Given the description of an element on the screen output the (x, y) to click on. 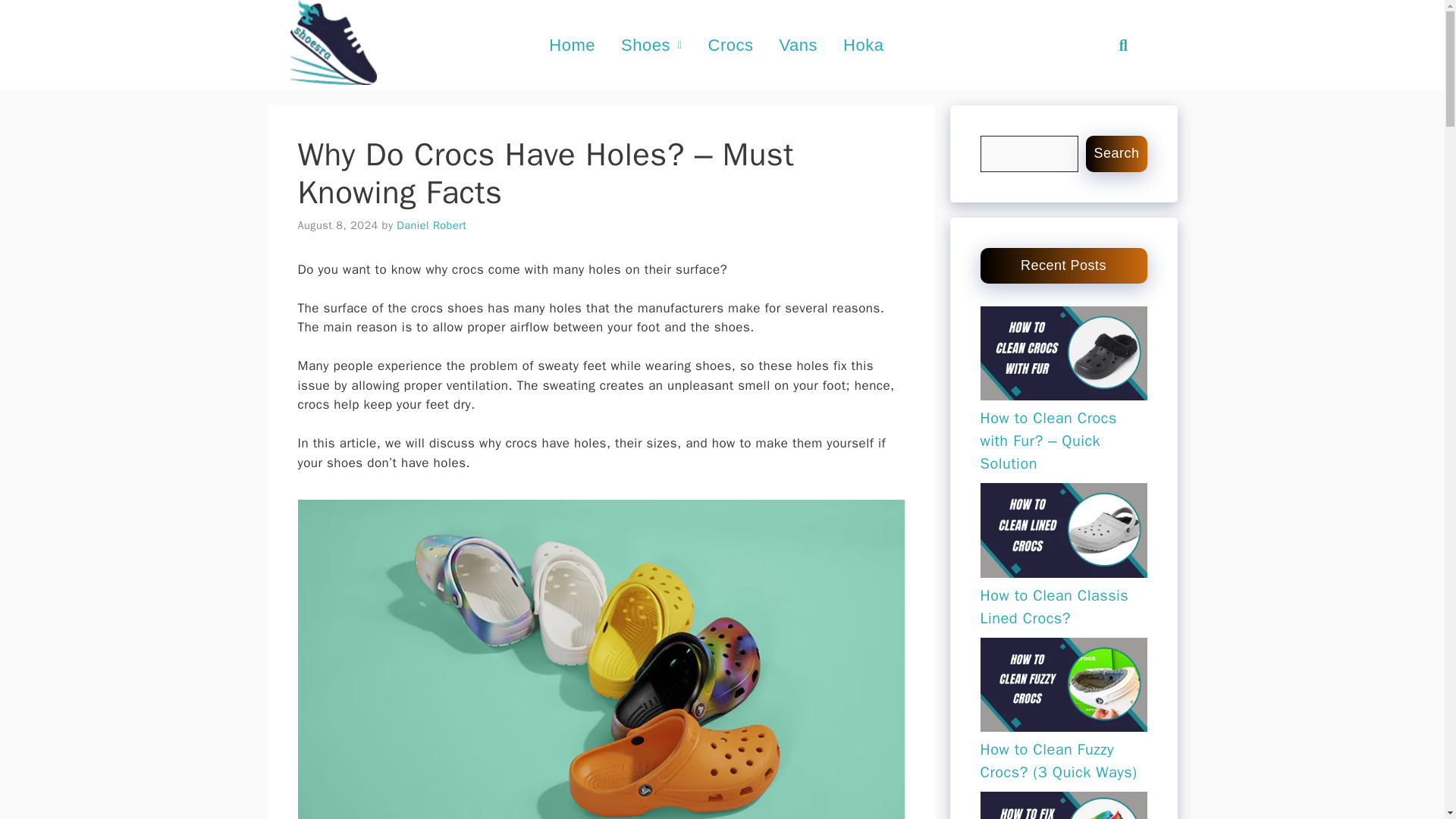
Search (1116, 44)
Search (1116, 153)
Home (571, 44)
How to Clean Classis Lined Crocs? (1053, 607)
Daniel Robert (430, 224)
Vans (799, 44)
View all posts by Daniel Robert (430, 224)
Hoka (862, 44)
Crocs (731, 44)
Shoes (651, 44)
